Given the description of an element on the screen output the (x, y) to click on. 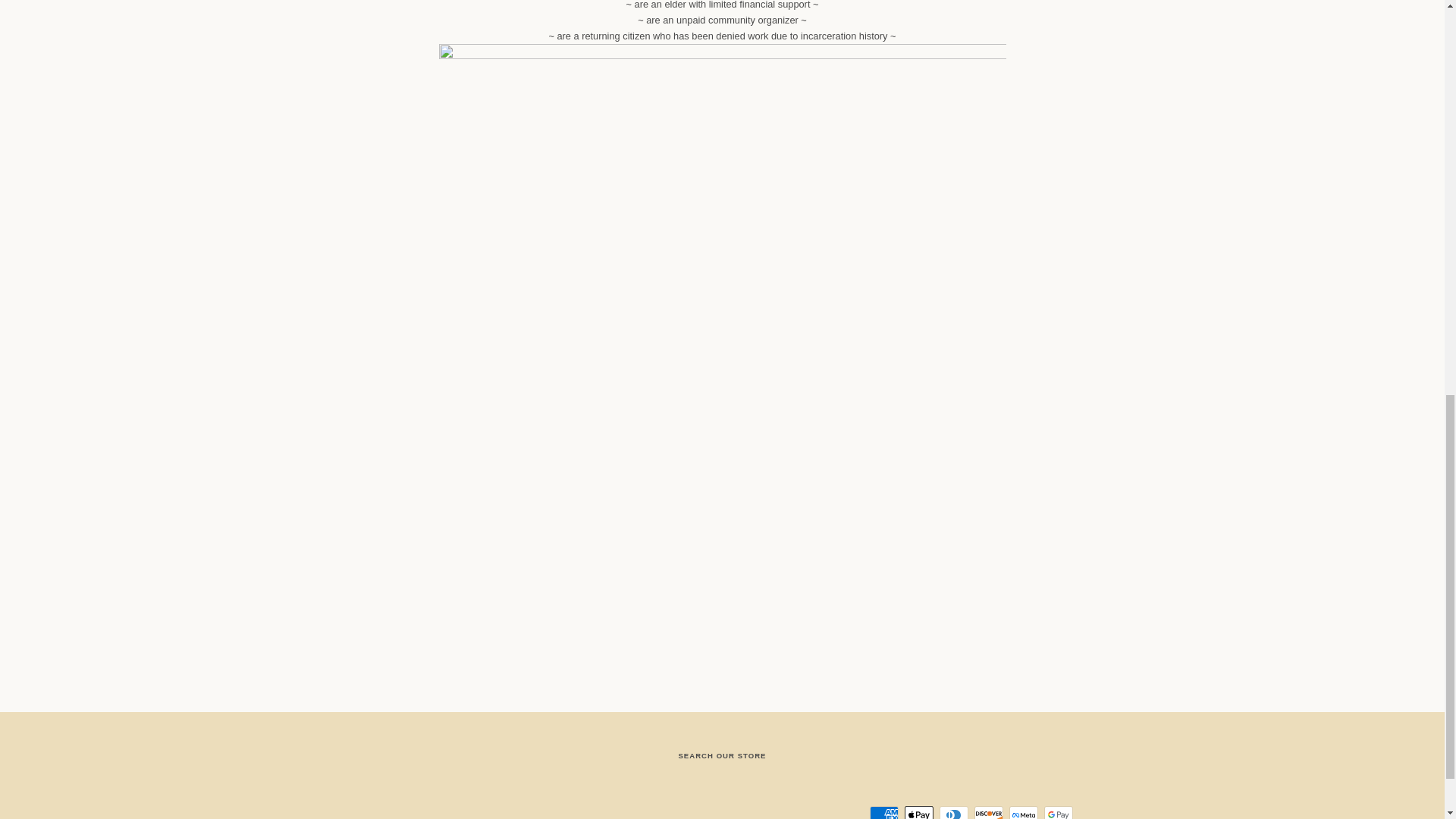
Meta Pay (1022, 812)
Discover (988, 812)
Diners Club (953, 812)
American Express (883, 812)
Apple Pay (918, 812)
Google Pay (1057, 812)
SEARCH OUR STORE (721, 755)
